Given the description of an element on the screen output the (x, y) to click on. 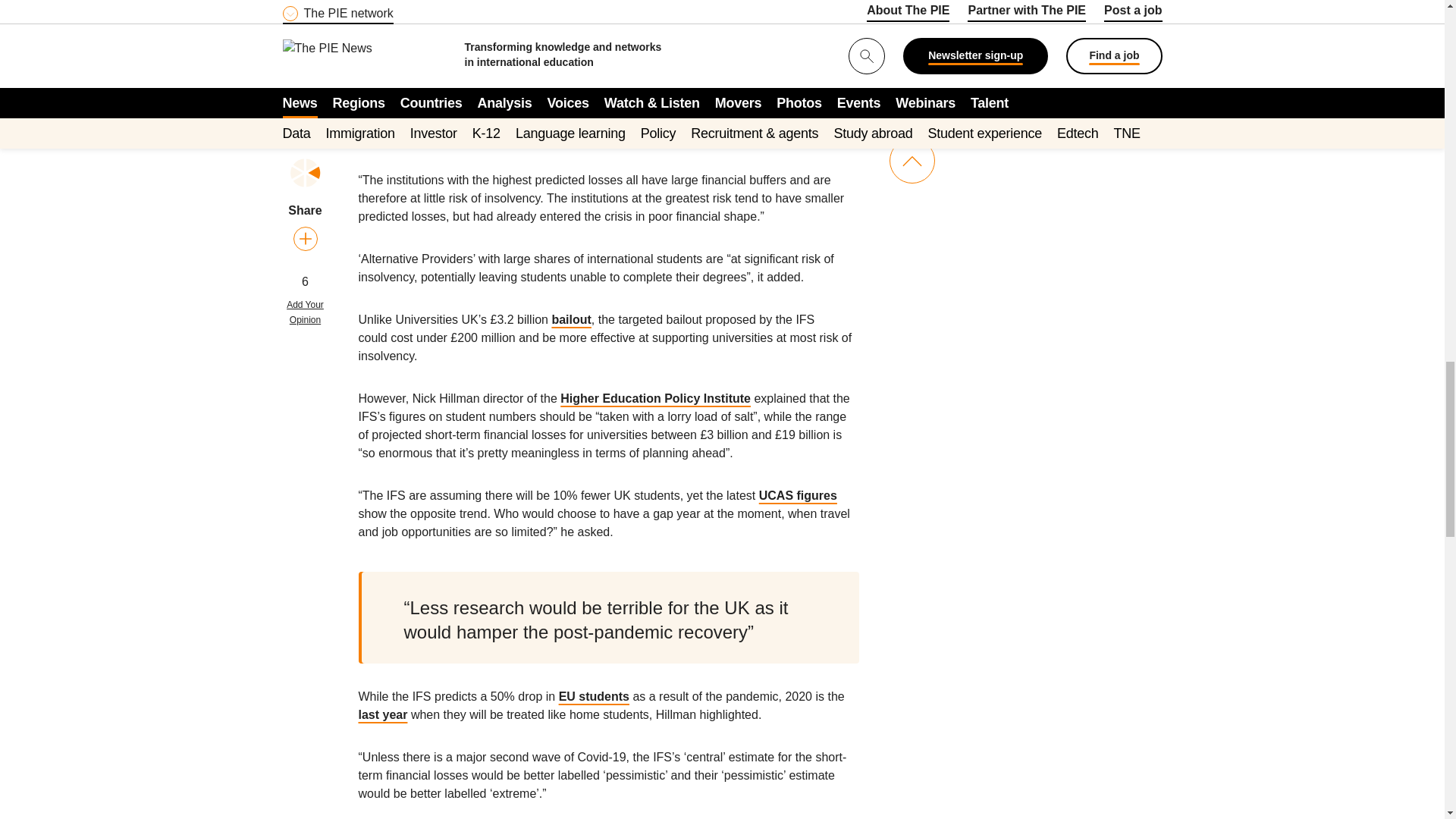
Page 3 (608, 33)
